Given the description of an element on the screen output the (x, y) to click on. 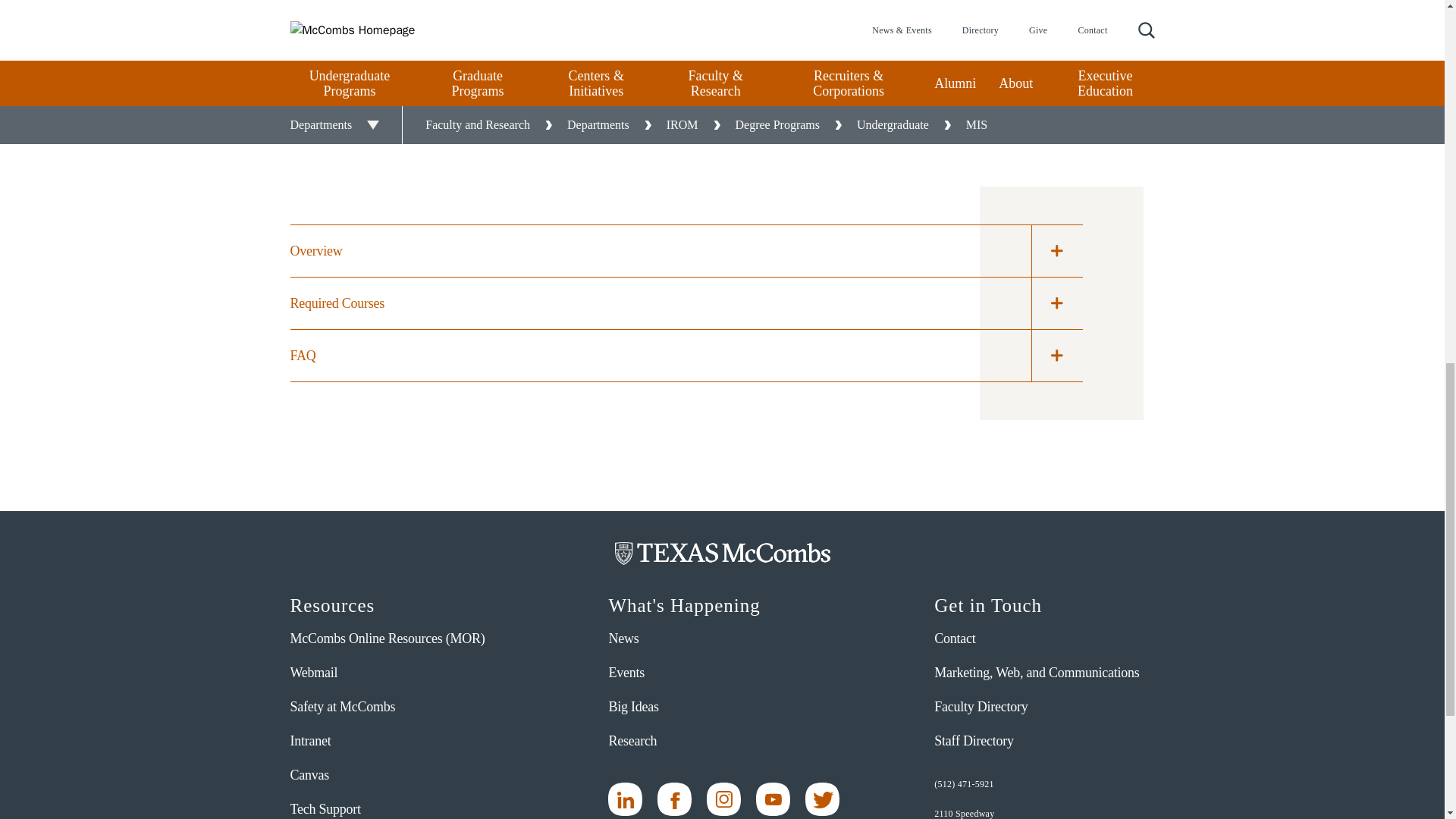
Facebook (674, 799)
Twitter (822, 799)
University of Texas McCombs School of Business (721, 553)
YouTube (772, 799)
LinkedIn (625, 799)
Instagram (723, 799)
